Given the description of an element on the screen output the (x, y) to click on. 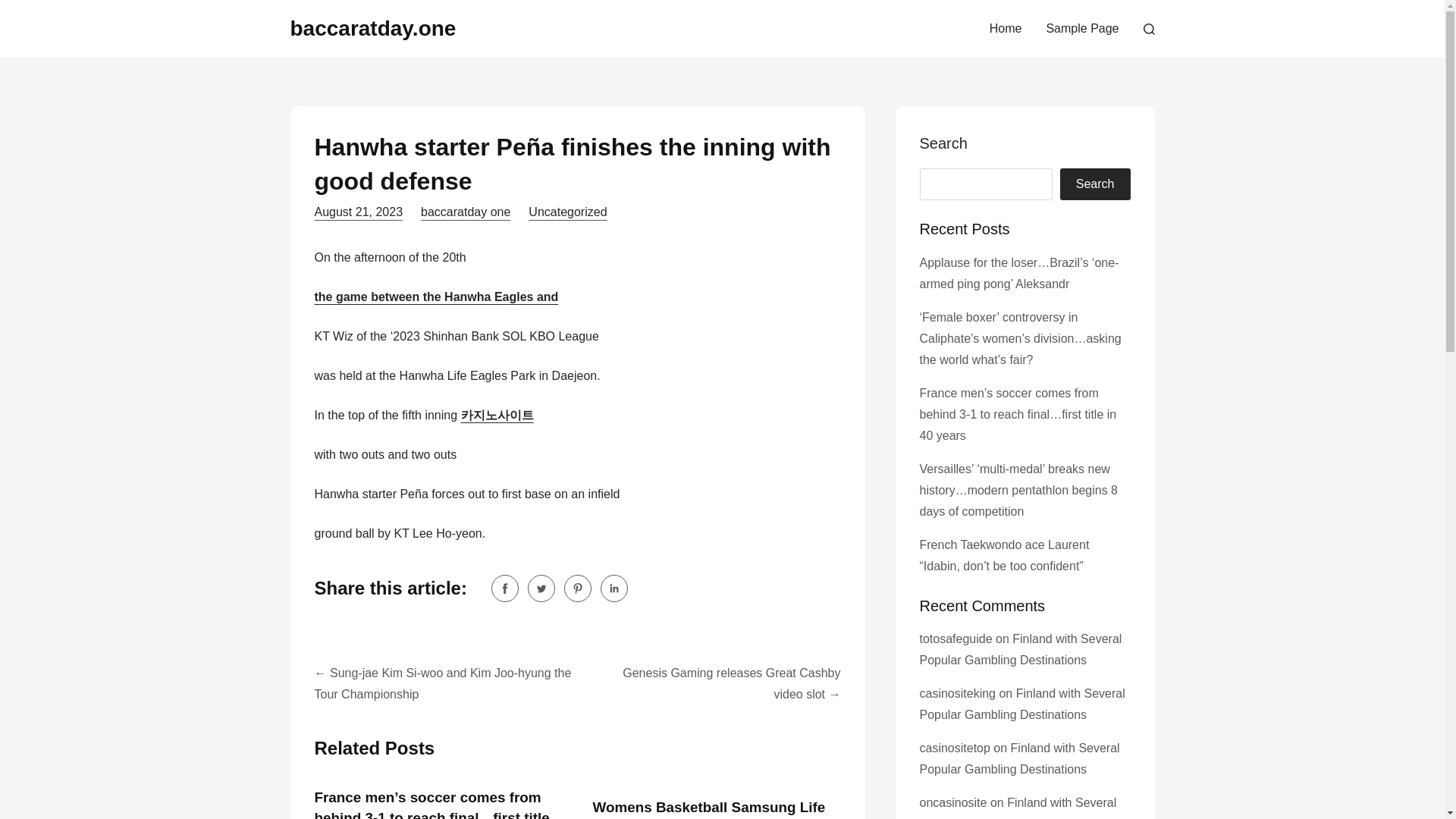
baccaratday one (465, 211)
 the game between the Hanwha Eagles and (435, 296)
casinositeking (956, 693)
baccaratday.one (372, 28)
totosafeguide (954, 638)
the game between the Hanwha Eagles and (435, 296)
Sample Page (1082, 28)
casinositetop (954, 748)
Uncategorized (567, 211)
Finland with Several Popular Gambling Destinations (1021, 704)
